Given the description of an element on the screen output the (x, y) to click on. 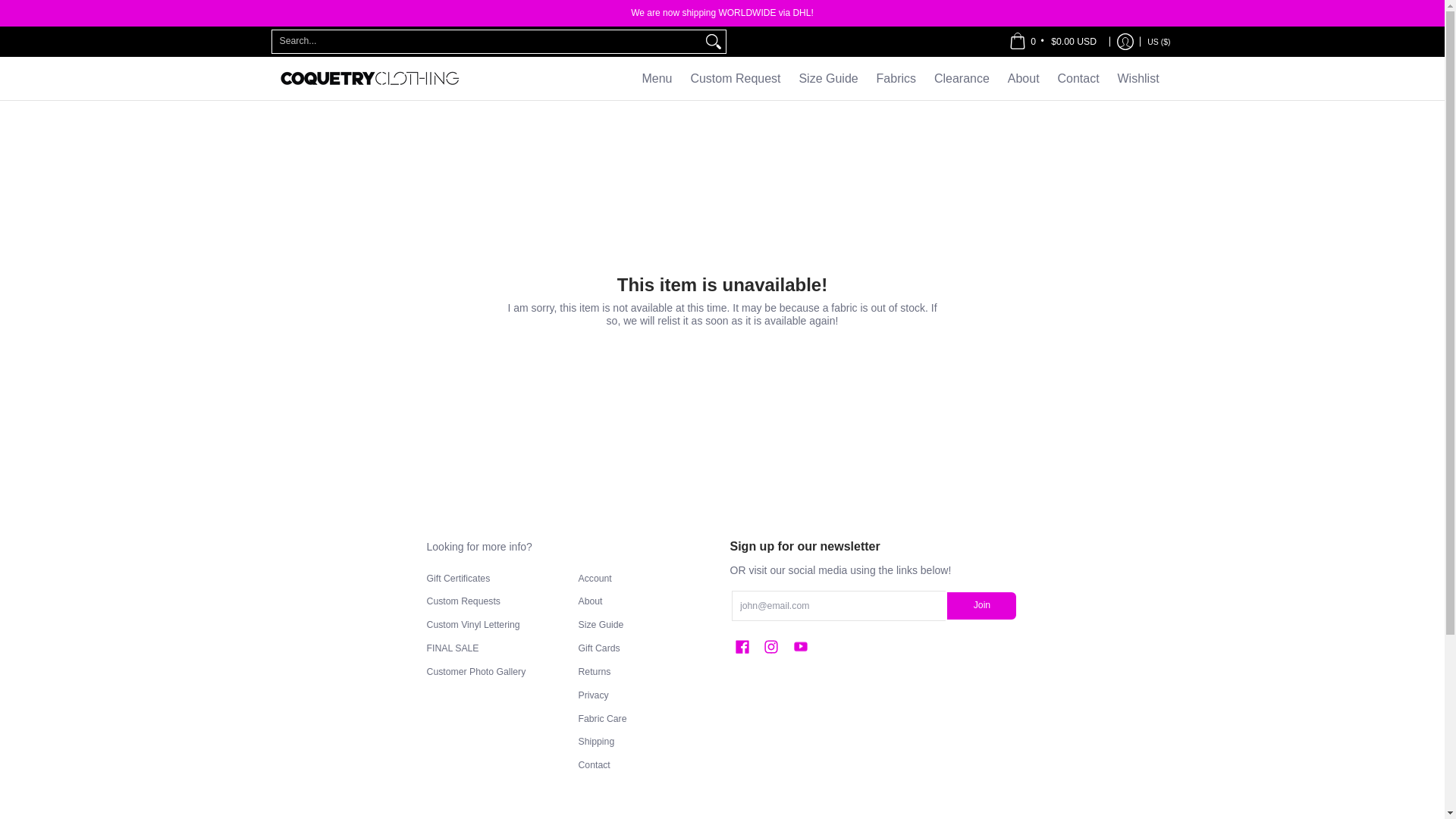
CA (1067, 3)
Menu (656, 77)
CV (1076, 28)
Coquetry Clothing (369, 77)
BQ (1099, 58)
Log in (1124, 41)
Cart (1053, 41)
